Given the description of an element on the screen output the (x, y) to click on. 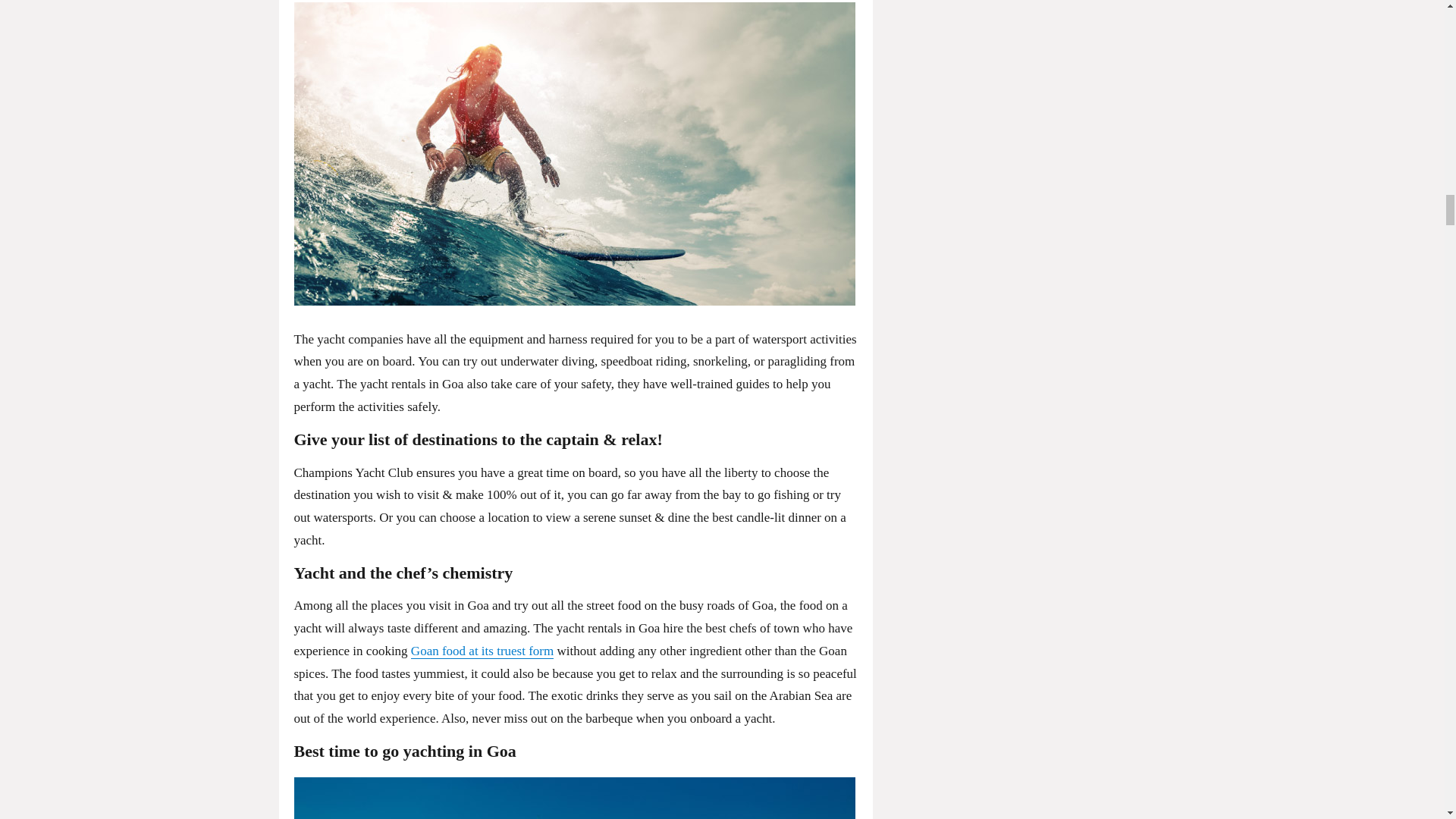
Goan food at its truest form (481, 650)
